Given the description of an element on the screen output the (x, y) to click on. 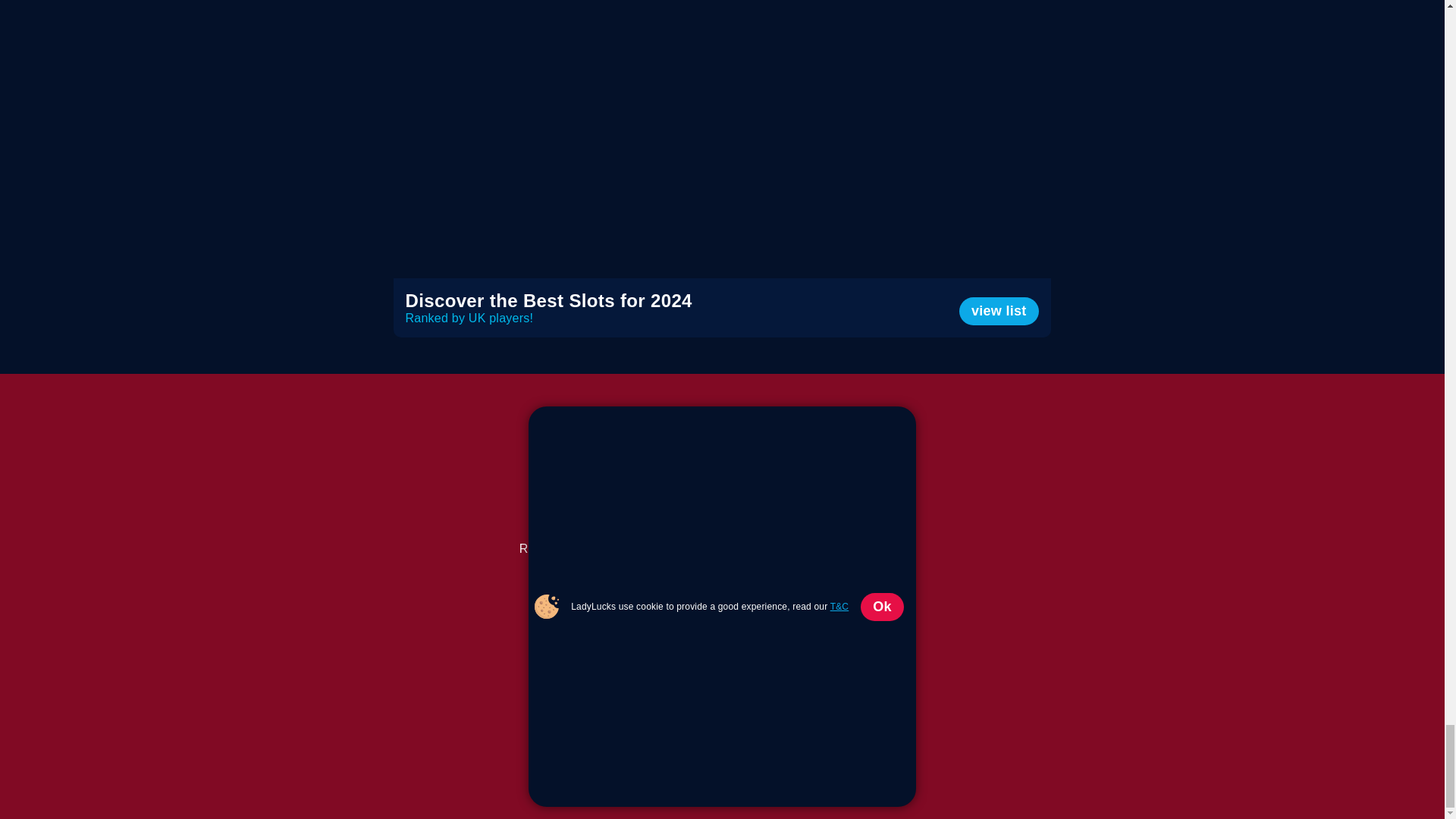
Visit Game Care (735, 585)
LadyLucks on Facebook (771, 533)
LadyLucks on Twitter (739, 533)
Discover the Best Slots for 2024 (733, 319)
Visit BeGambleAware (779, 556)
